Given the description of an element on the screen output the (x, y) to click on. 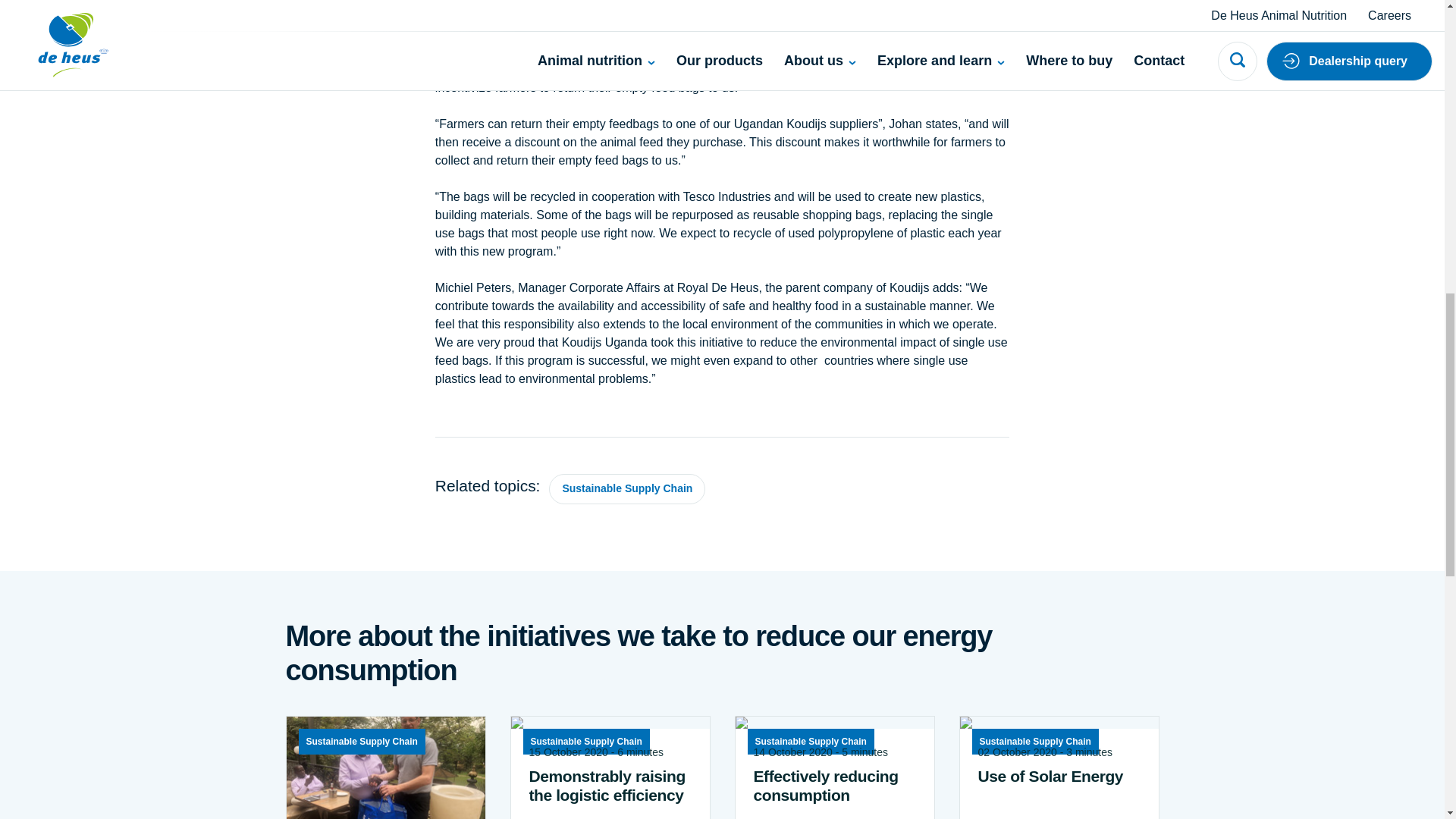
Effectively reducing consumption (834, 785)
Use of Solar Energy (1059, 775)
Demonstrably raising the logistic efficiency (610, 785)
